Given the description of an element on the screen output the (x, y) to click on. 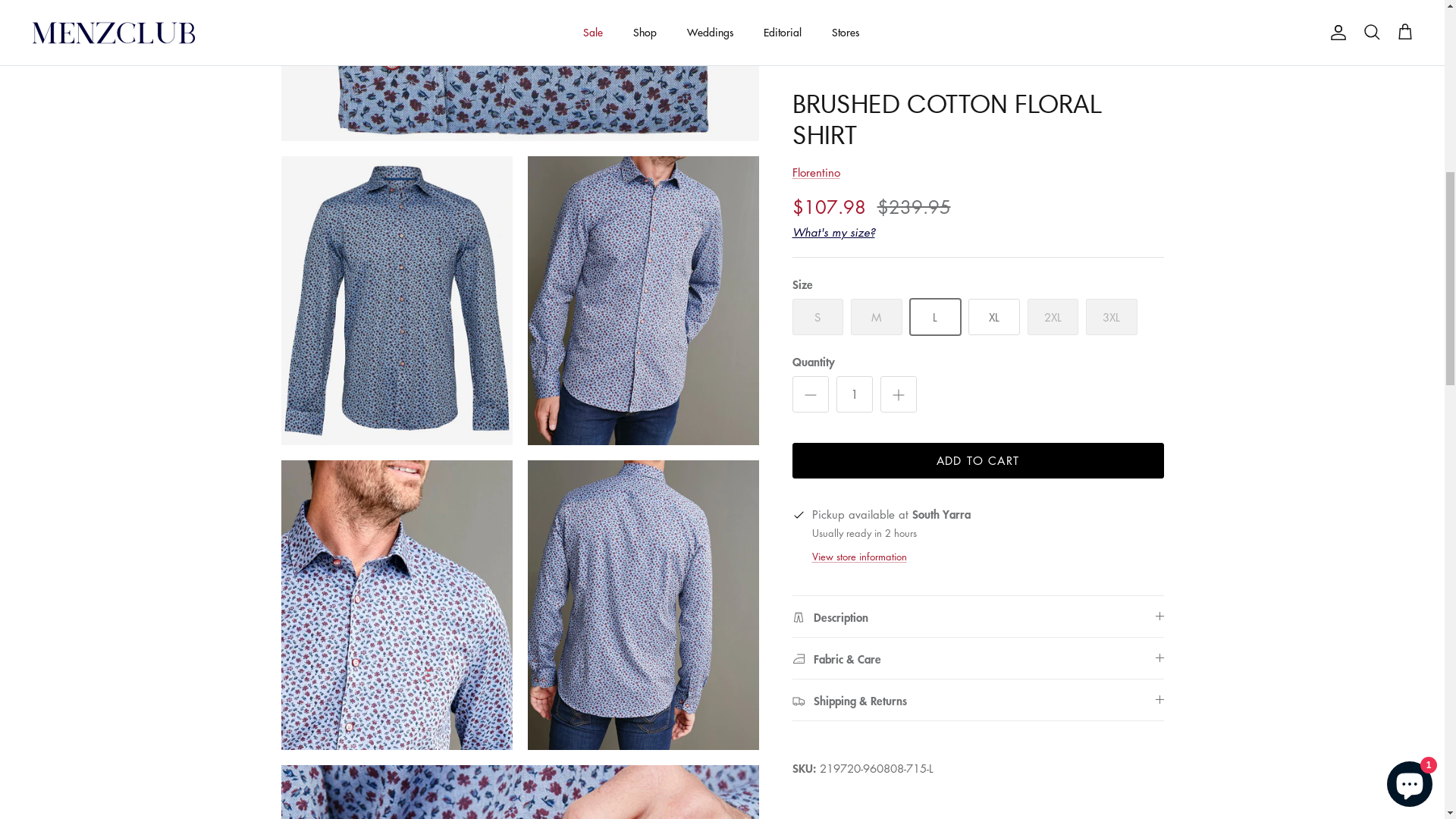
Brushed Cotton Floral Shirt Element type: text (282, 125)
Shop Element type: text (644, 650)
Editorial Element type: text (782, 650)
Menzclub Element type: hover (113, 650)
Search Element type: text (1371, 651)
Florentino Element type: text (815, 791)
Sale Element type: text (592, 650)
Book an Appointment Element type: text (1366, 15)
Stores Element type: text (845, 650)
Home Element type: text (202, 125)
Weddings Element type: text (709, 650)
Cart Element type: text (1405, 651)
Account Element type: text (1335, 651)
